Given the description of an element on the screen output the (x, y) to click on. 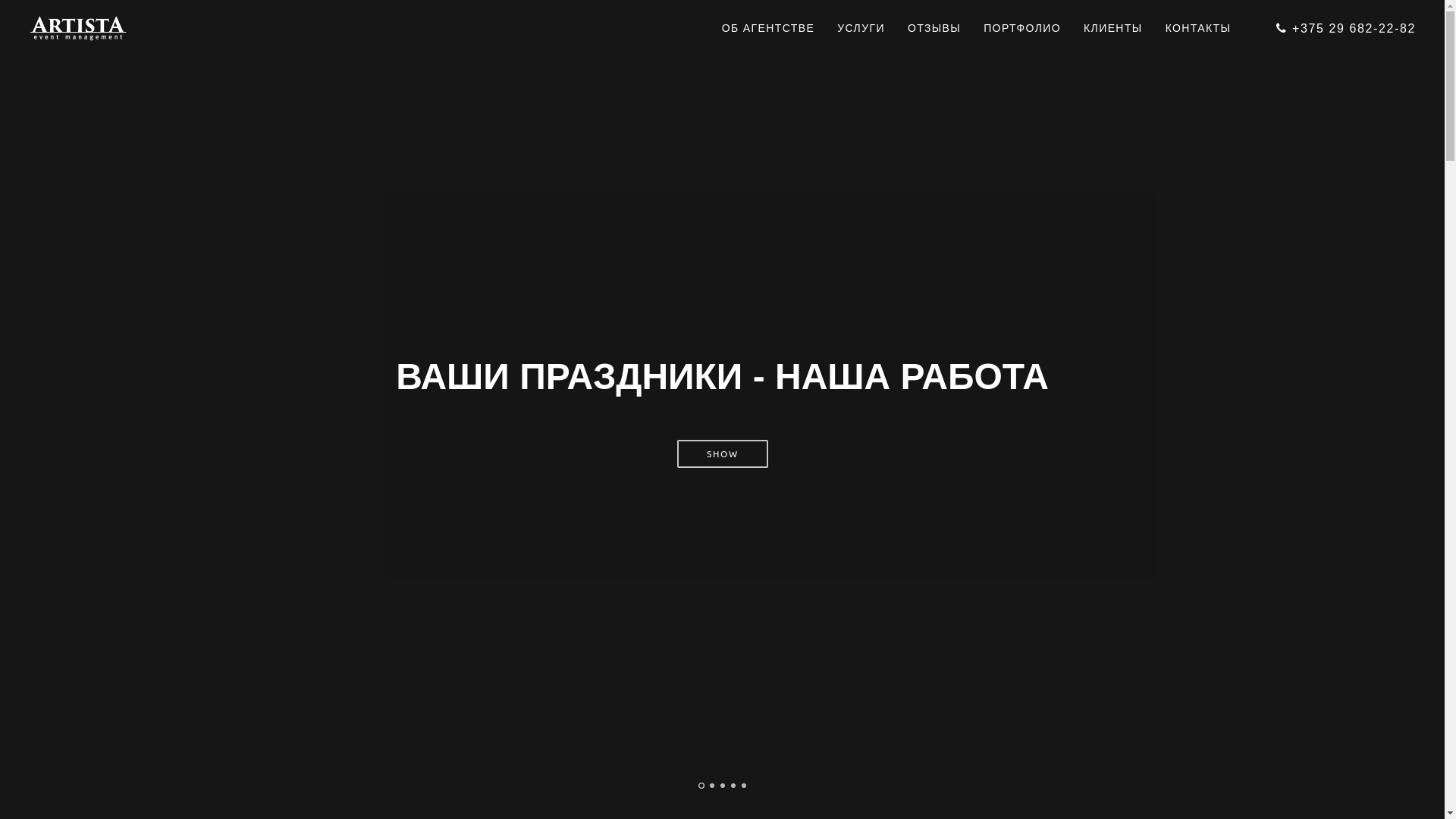
SHOW Element type: text (721, 453)
+375 29 682-22-82 Element type: text (1345, 28)
